Given the description of an element on the screen output the (x, y) to click on. 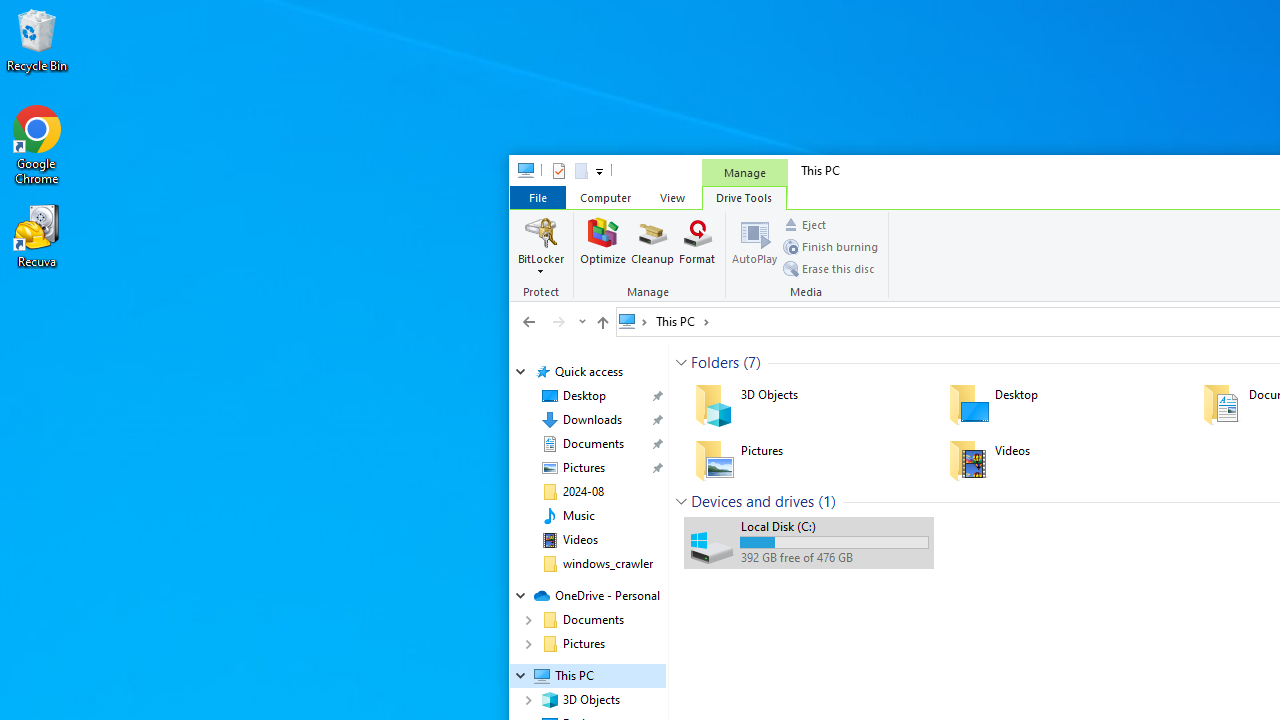
Protect (543, 255)
Manage (650, 255)
Navigation buttons (552, 321)
Erase this disc (828, 268)
Pictures (pinned) (583, 467)
Videos (580, 539)
System (520, 173)
Quick Access Toolbar (569, 170)
2024-08 (582, 491)
Documents (pinned) (592, 443)
Properties (558, 169)
Count (827, 501)
Optimize (603, 246)
Collapse Group (681, 501)
Customize Quick Access Toolbar (598, 170)
